Given the description of an element on the screen output the (x, y) to click on. 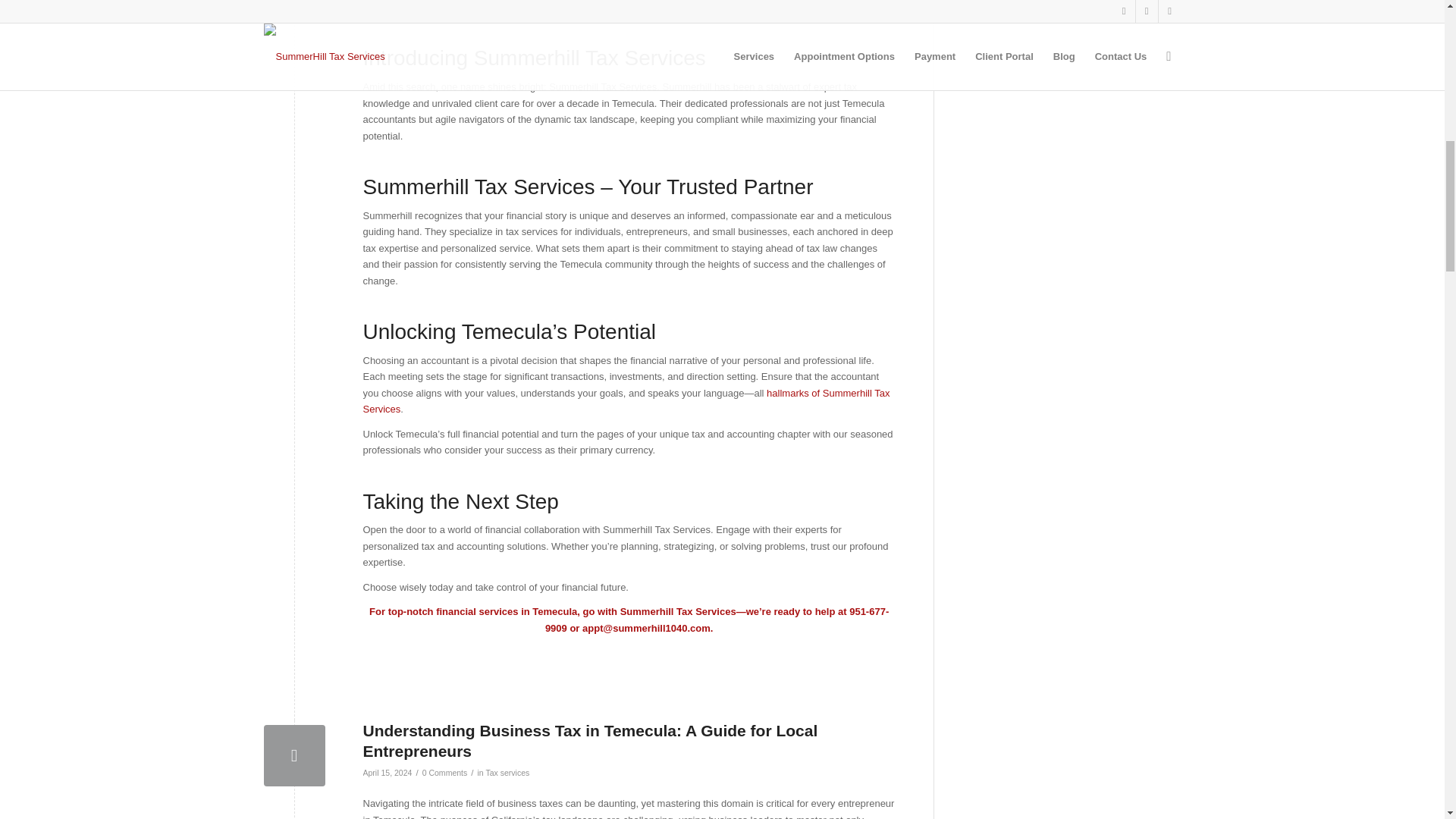
go with Summerhill Tax Services (659, 611)
Tax services (506, 772)
hallmarks of Summerhill Tax Services (625, 400)
0 Comments (444, 772)
